Given the description of an element on the screen output the (x, y) to click on. 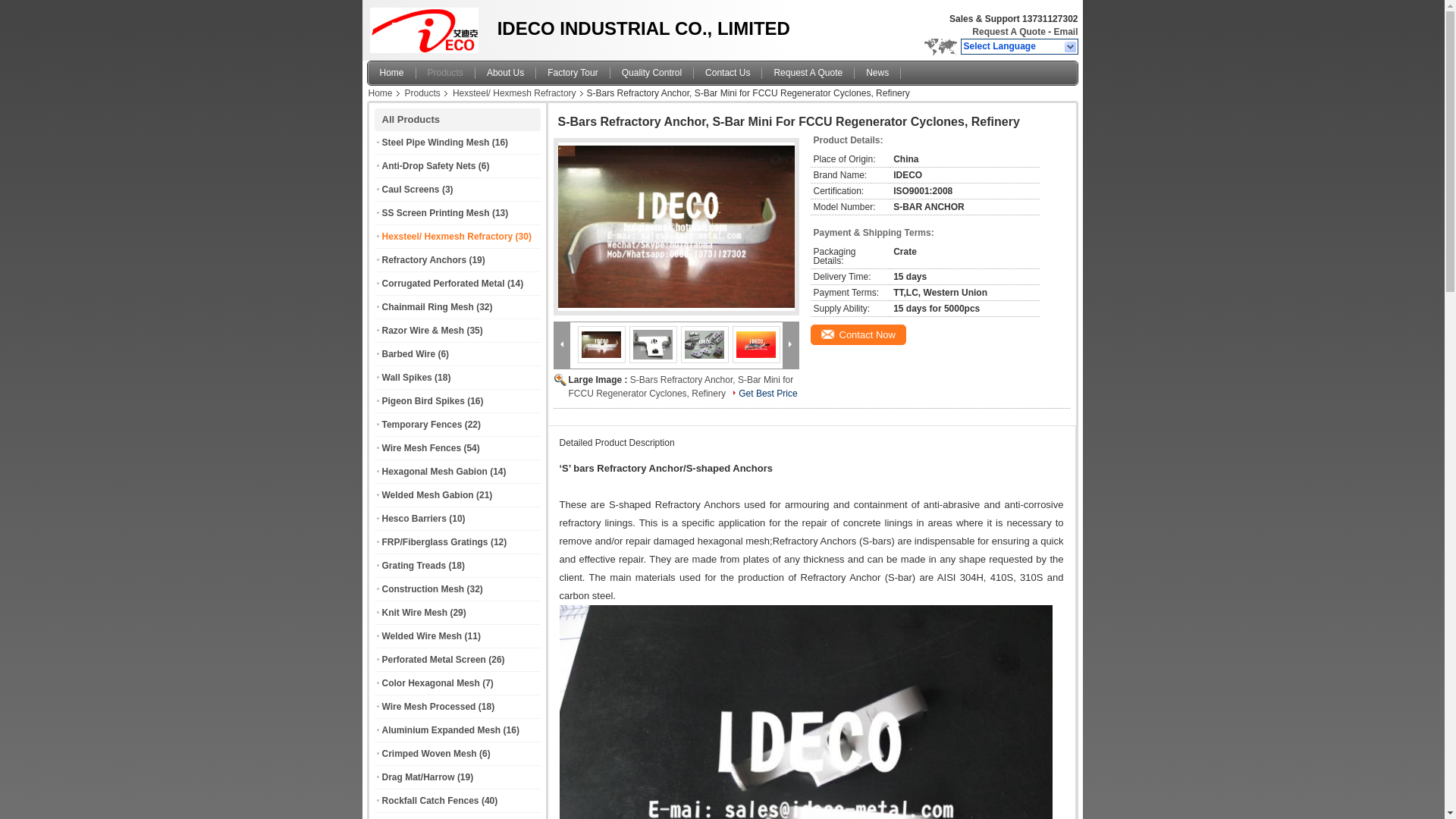
Knit Wire Mesh (414, 612)
Wire Mesh Fences (421, 448)
Hexagonal Mesh Gabion (434, 471)
Welded Mesh Gabion (427, 494)
Temporary Fences (422, 424)
China Steel Pipe Winding Mesh manufacturer (427, 26)
Construction Mesh (422, 588)
SS Screen Printing Mesh (435, 213)
Hesco Barriers (413, 518)
Corrugated Perforated Metal (443, 283)
Grating Treads (413, 565)
Home (392, 72)
IDECO INDUSTRIAL CO., LIMITED (1008, 31)
Chainmail Ring Mesh (427, 307)
News (877, 72)
